Given the description of an element on the screen output the (x, y) to click on. 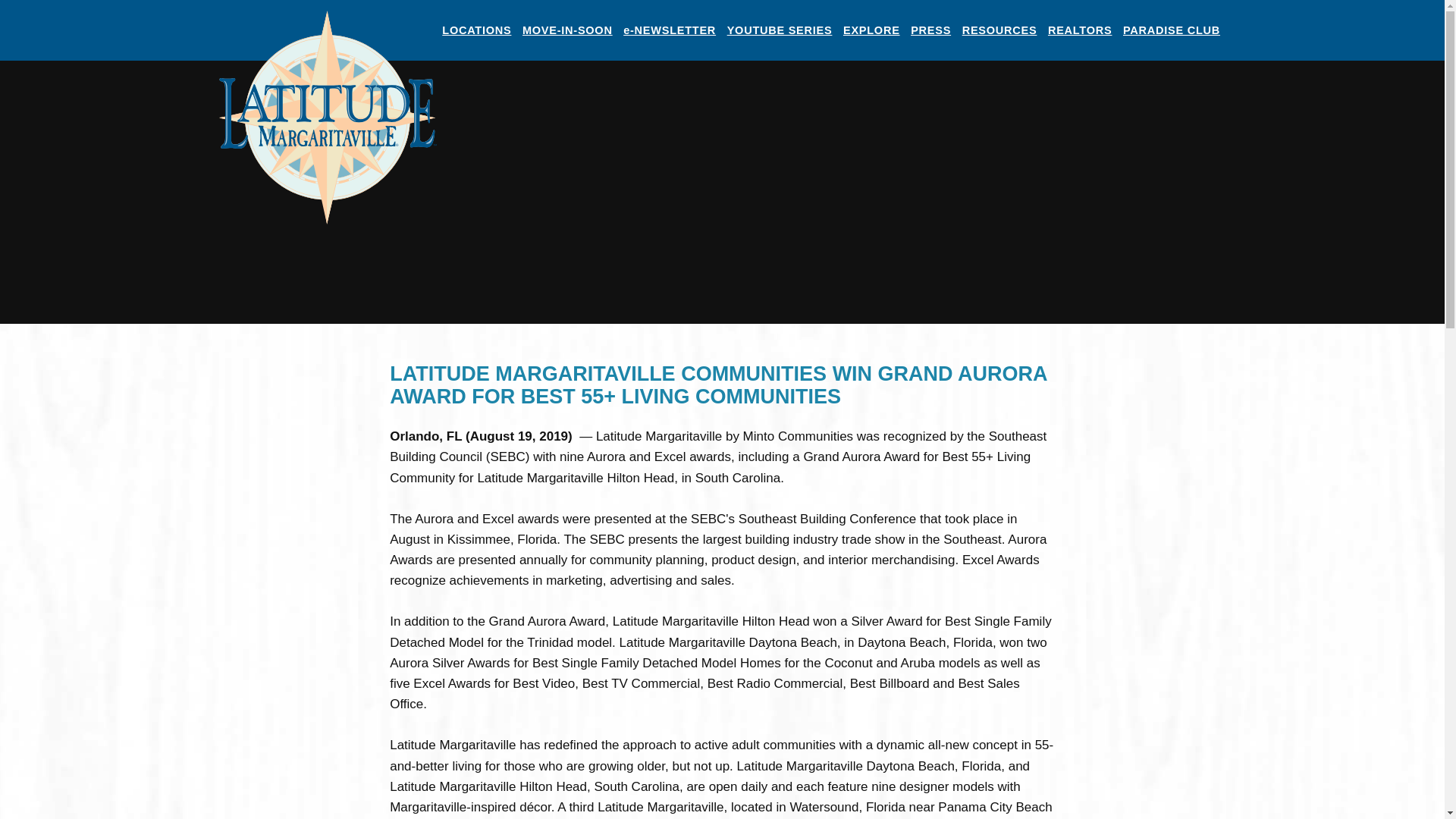
e-NEWSLETTER (668, 30)
YOUTUBE SERIES (778, 30)
RESOURCES (999, 30)
REALTORS (1080, 30)
PARADISE CLUB (1171, 30)
MOVE-IN-SOON (566, 30)
EXPLORE (871, 30)
LOCATIONS (476, 30)
